Given the description of an element on the screen output the (x, y) to click on. 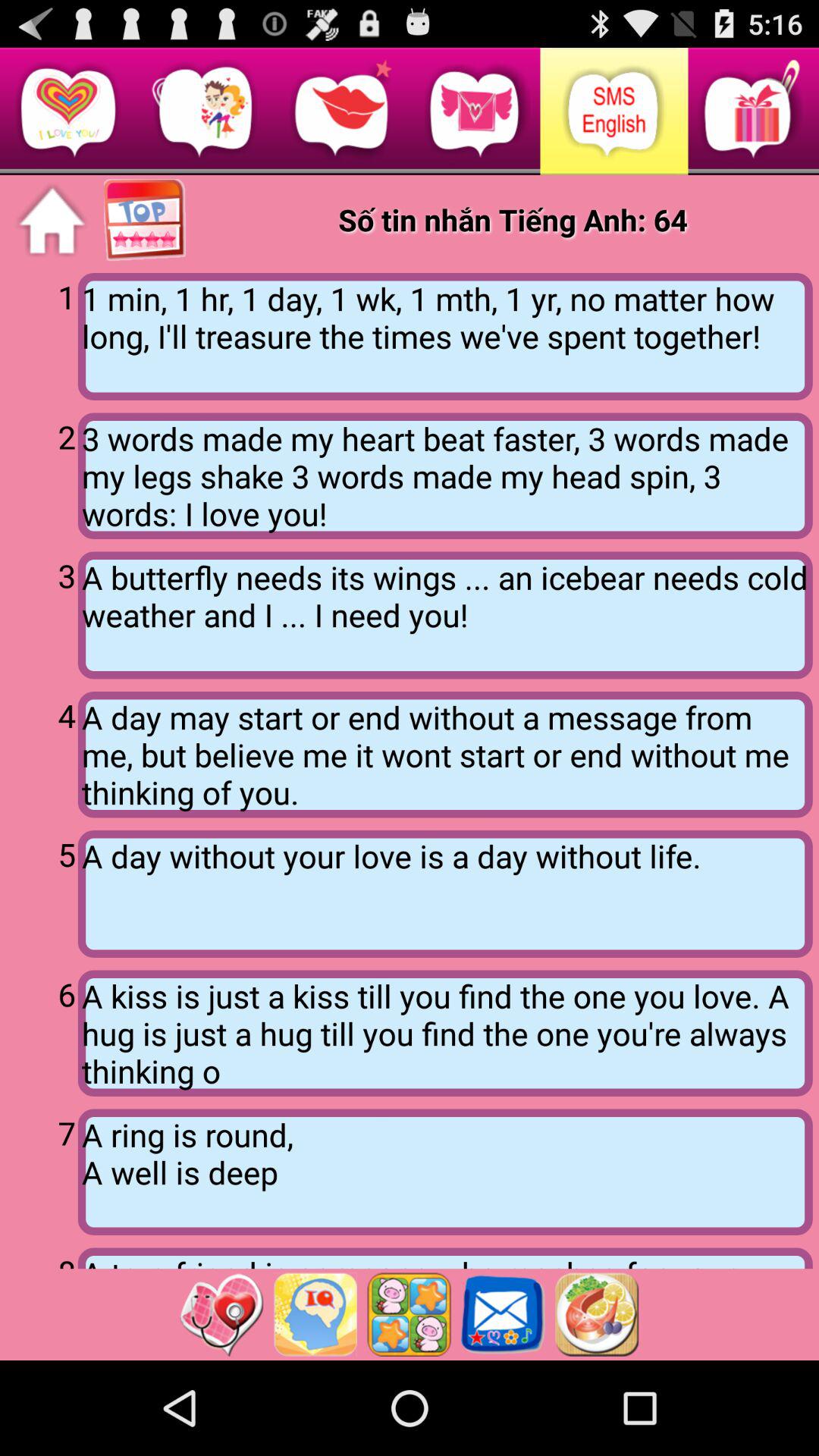
choose home symbol (51, 220)
